Given the description of an element on the screen output the (x, y) to click on. 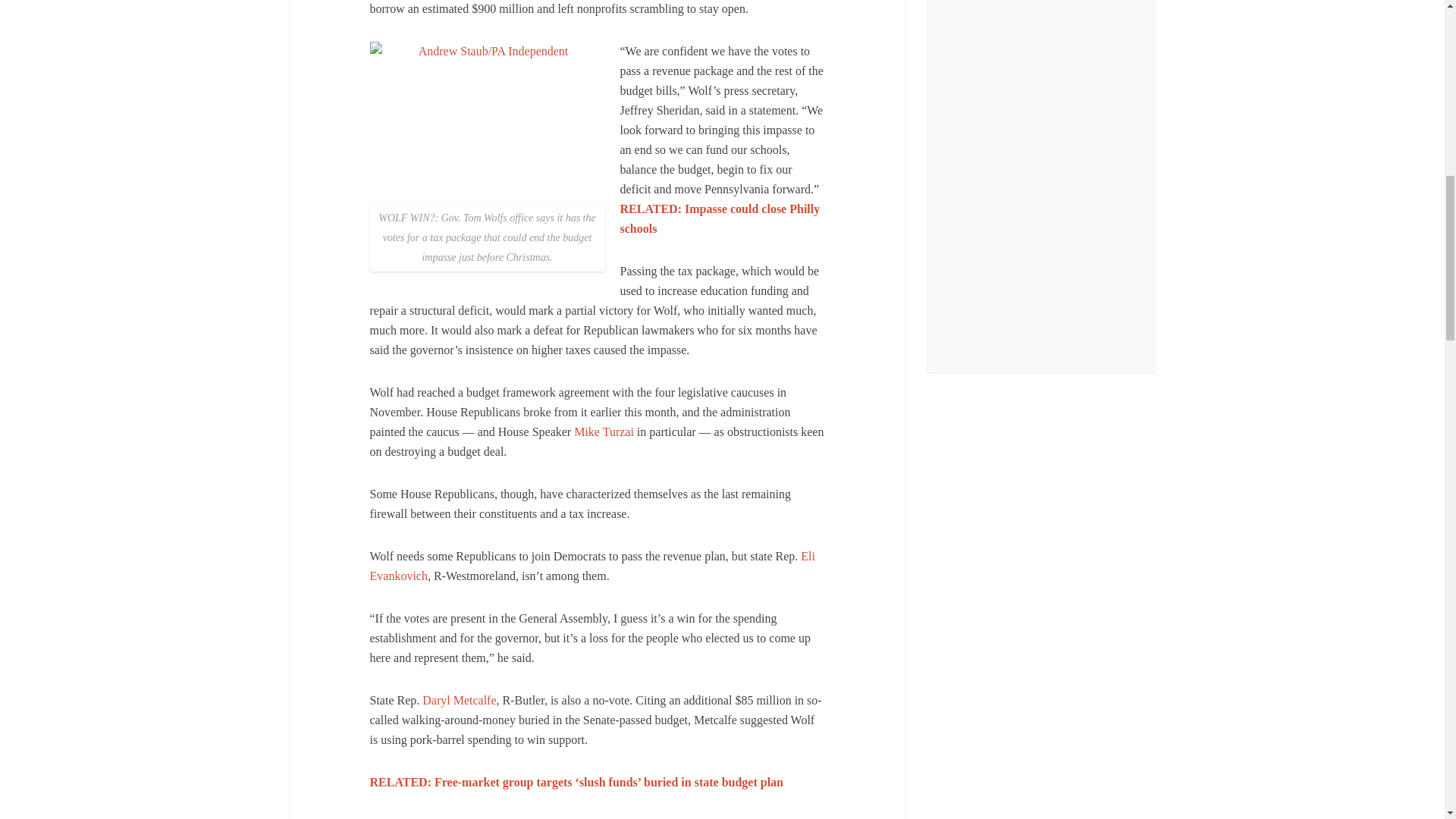
RELATED: Impasse could close Philly schools (720, 218)
Eli Evankovich (592, 565)
Mike Turzai (603, 431)
Daryl Metcalfe (459, 699)
